Given the description of an element on the screen output the (x, y) to click on. 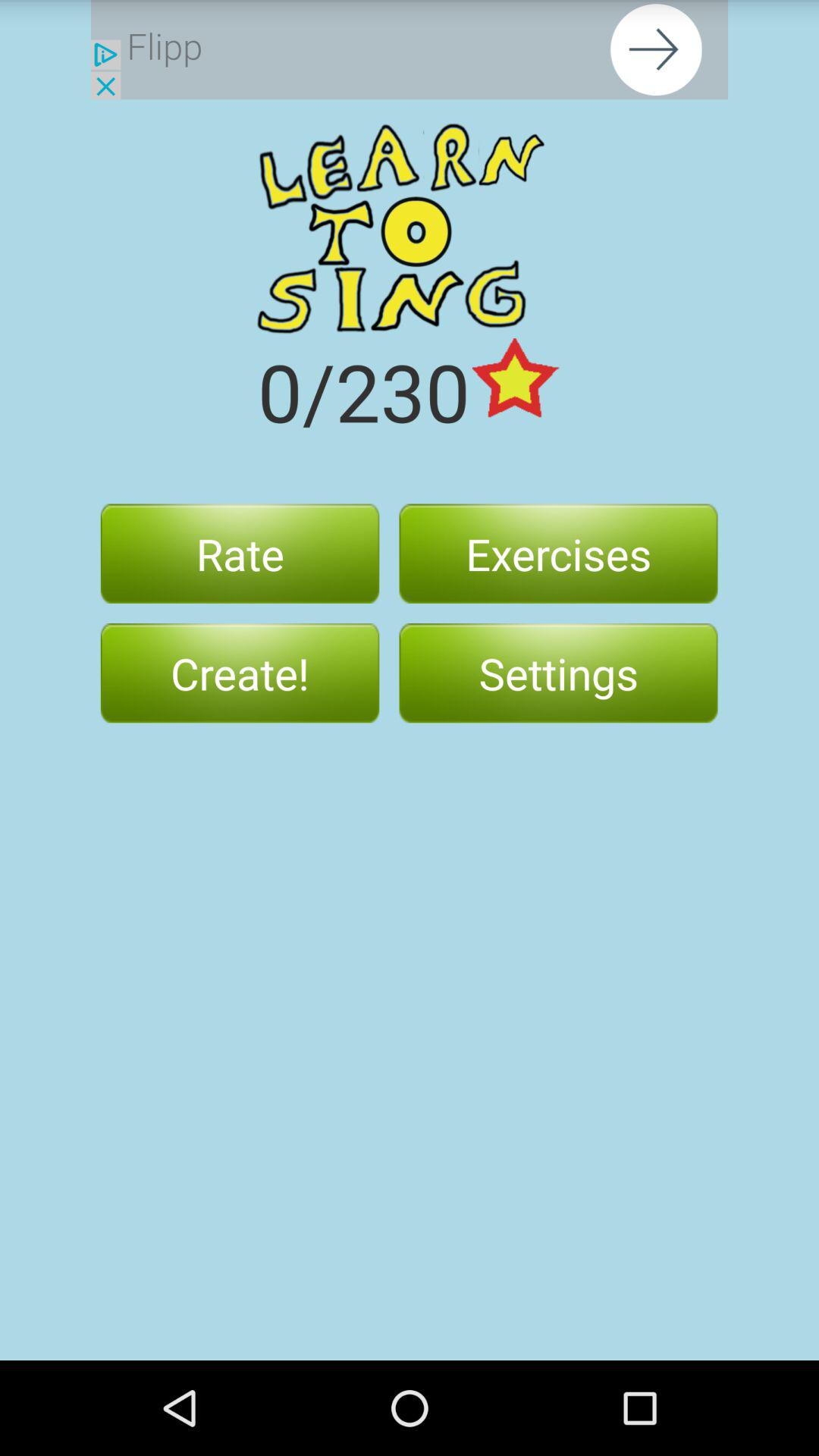
try this app (409, 49)
